Given the description of an element on the screen output the (x, y) to click on. 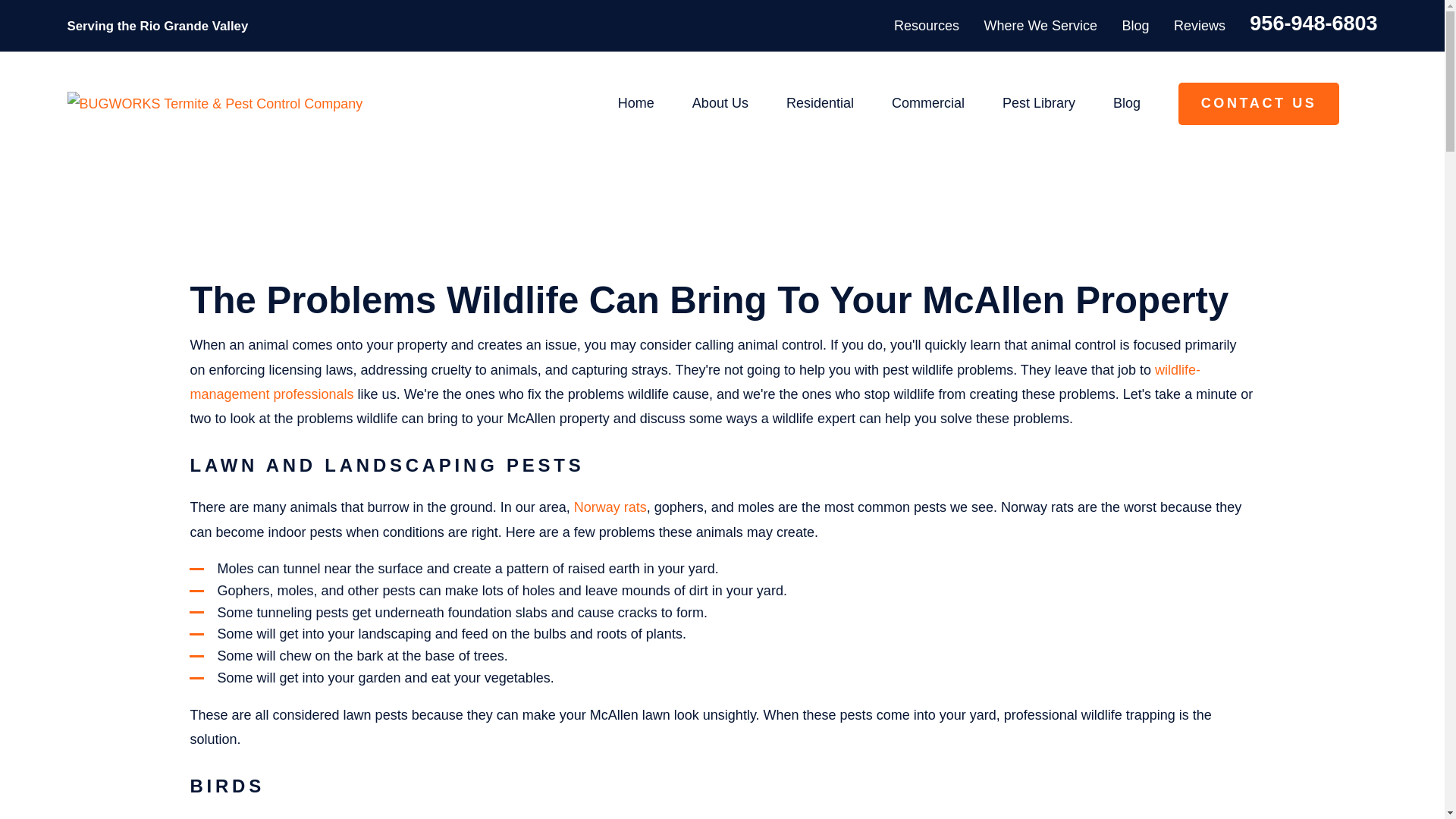
Blog (1136, 25)
Home (214, 103)
956-948-6803 (1313, 23)
Where We Service (1040, 25)
Resources (926, 25)
Reviews (1199, 25)
Pest Library (1039, 103)
Commercial (927, 103)
